Given the description of an element on the screen output the (x, y) to click on. 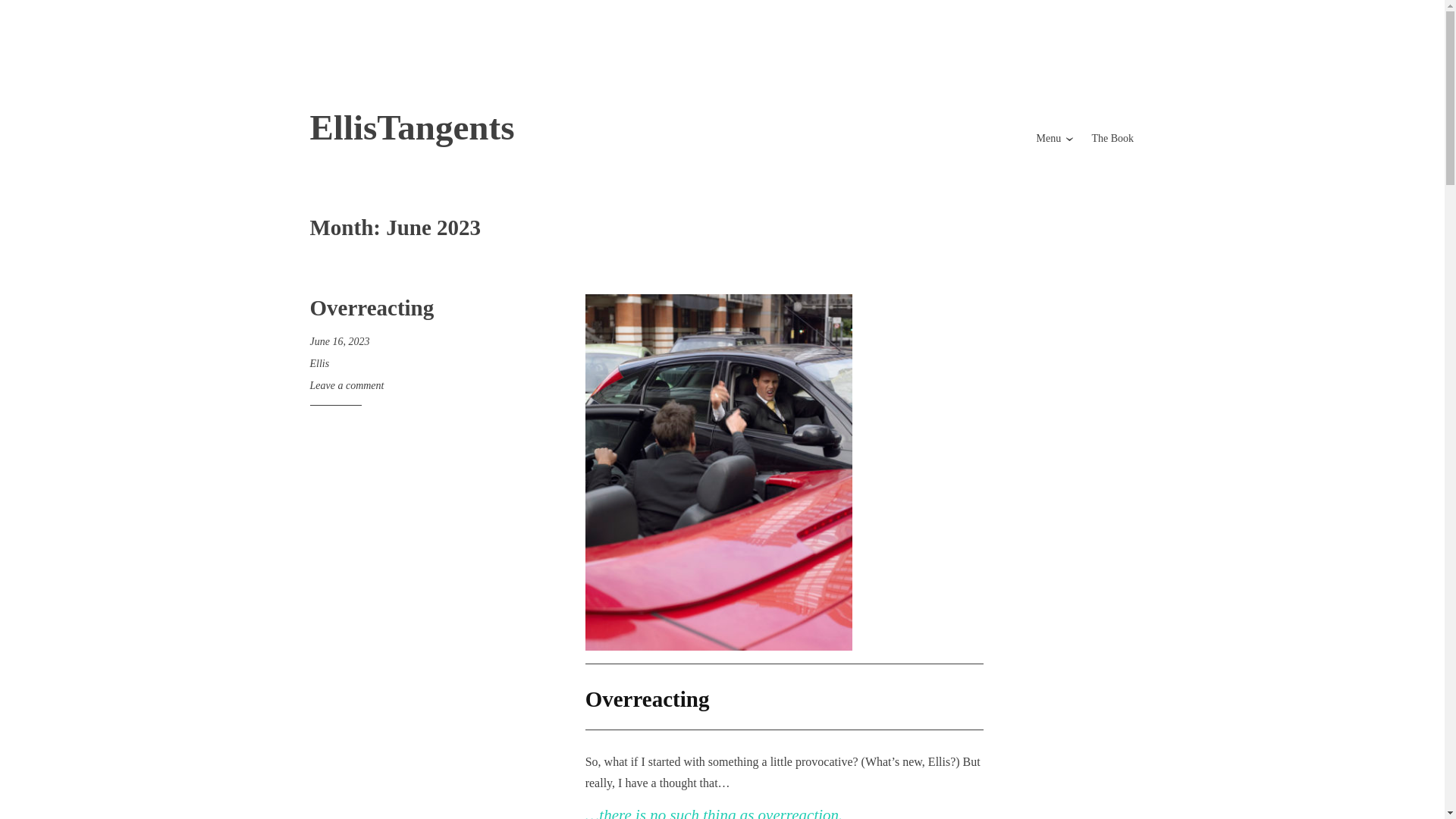
Overreacting (370, 307)
June 16, 2023 (338, 341)
Menu (1048, 138)
Leave a comment (346, 385)
Ellis (318, 363)
The Book (1112, 138)
EllisTangents (410, 127)
